Given the description of an element on the screen output the (x, y) to click on. 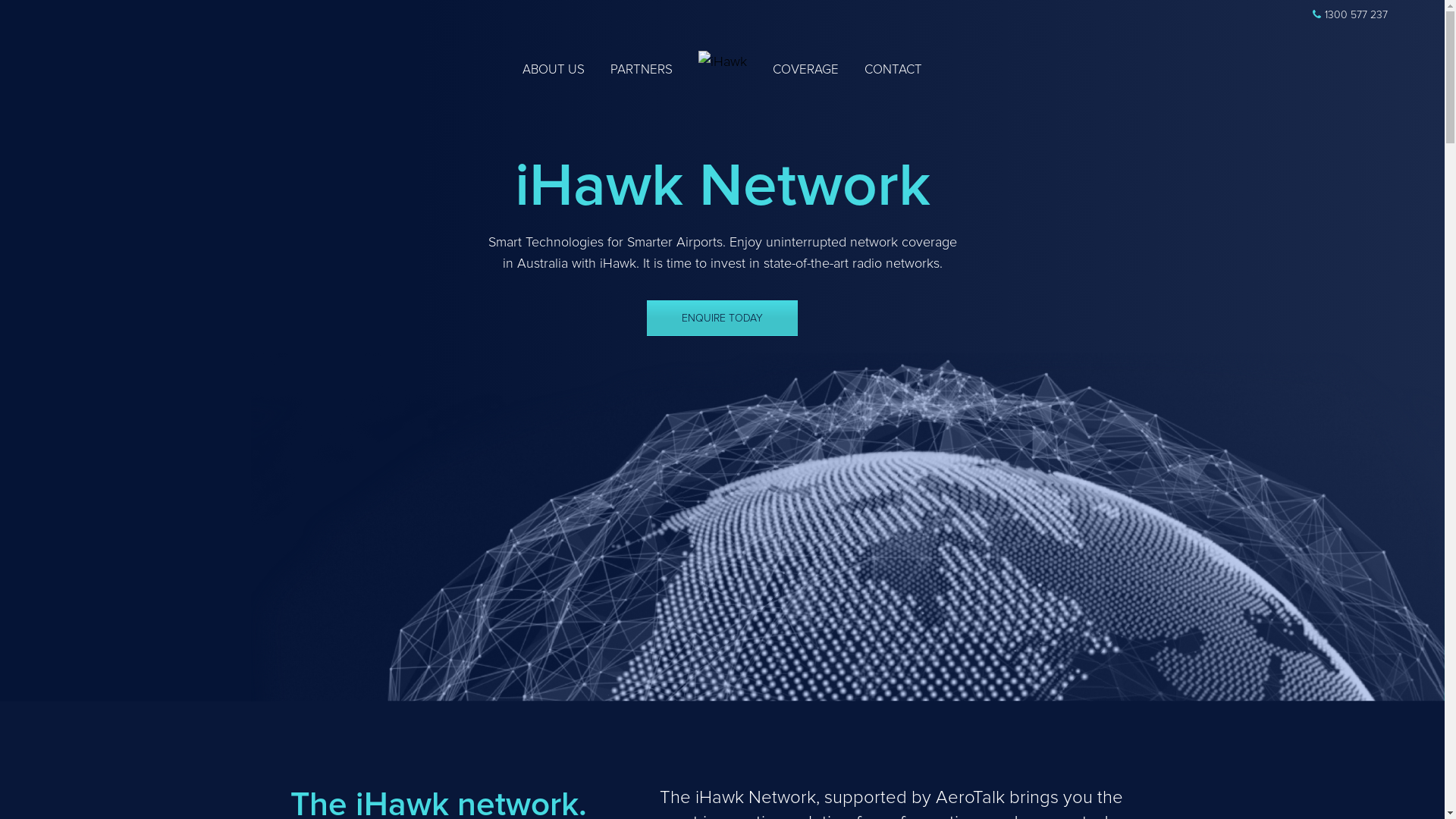
ENQUIRE TODAY Element type: text (721, 317)
1300 577 237 Element type: text (1349, 14)
ABOUT US Element type: text (552, 69)
COVERAGE Element type: text (804, 69)
PARTNERS Element type: text (640, 69)
CONTACT Element type: text (893, 69)
